Given the description of an element on the screen output the (x, y) to click on. 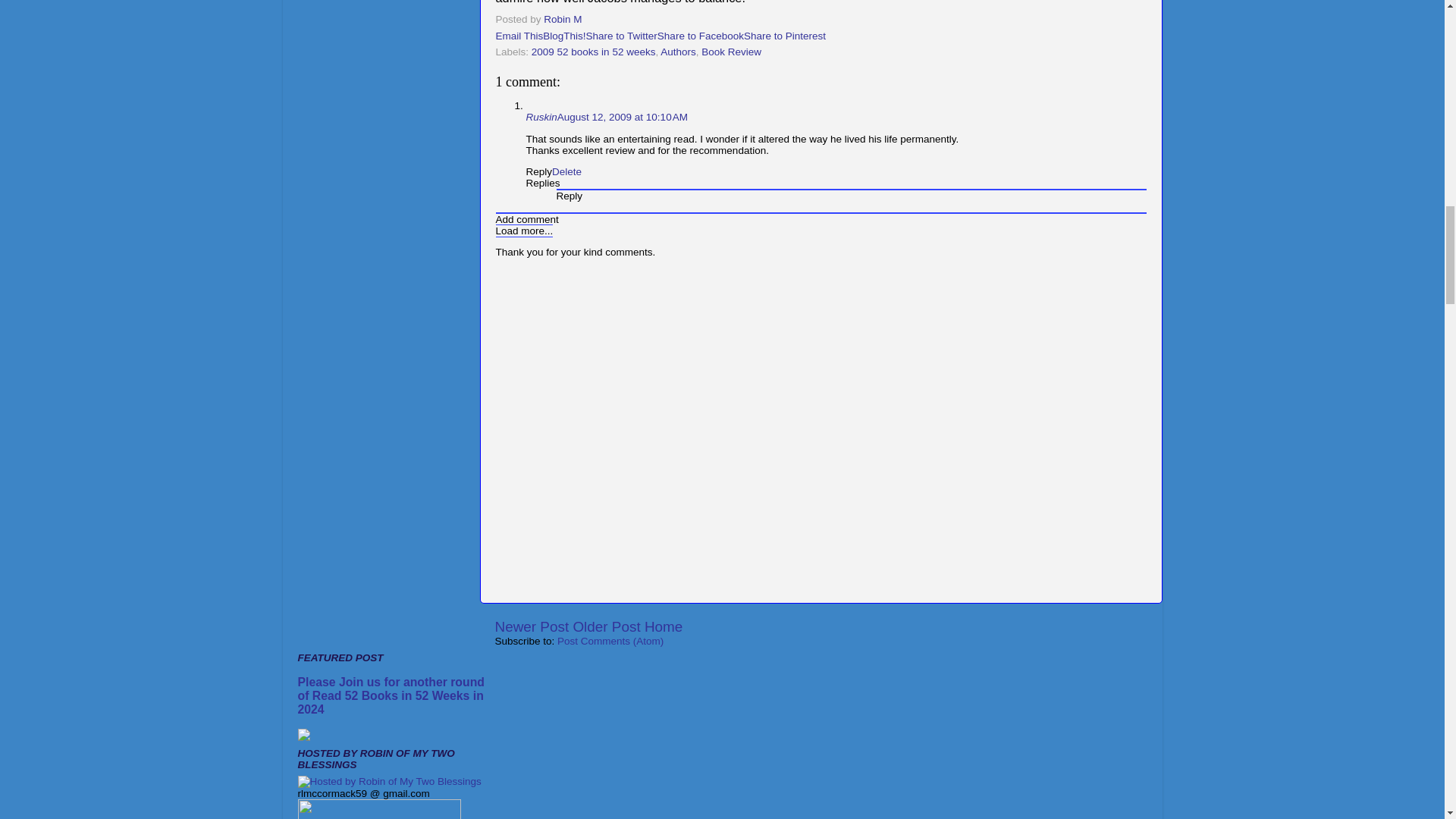
Book Review (731, 51)
Email Post (591, 19)
Ruskin (541, 116)
Older Post (606, 626)
Email This (519, 35)
Add comment (527, 219)
Newer Post (532, 626)
Share to Pinterest (784, 35)
BlogThis! (564, 35)
Share to Twitter (622, 35)
2009 52 books in 52 weeks (593, 51)
author profile (564, 19)
Older Post (606, 626)
Home (663, 626)
Delete (565, 171)
